Given the description of an element on the screen output the (x, y) to click on. 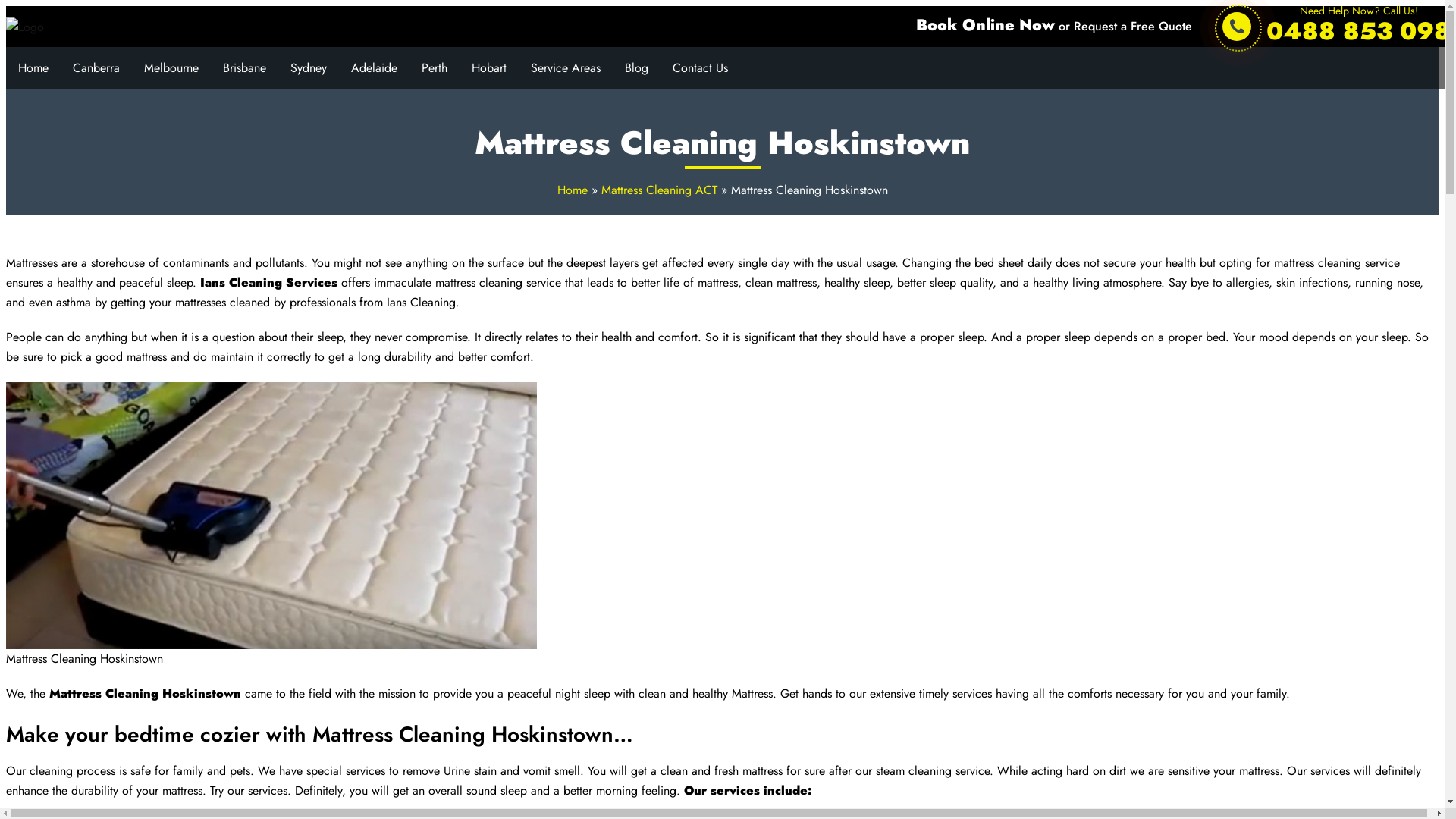
Perth Element type: text (434, 68)
Adelaide Element type: text (373, 68)
Home Element type: text (571, 189)
Sydney Element type: text (308, 68)
Brisbane Element type: text (244, 68)
Mattress Cleaning ACT Element type: text (658, 189)
Need Help Now? Call Us!
0488 853 098 Element type: text (1358, 26)
Book Online Nowor Request a Free Quote Element type: text (1054, 26)
Home Element type: text (32, 68)
Blog Element type: text (636, 68)
Melbourne Element type: text (171, 68)
Service Areas Element type: text (565, 68)
Contact Us Element type: text (700, 68)
Hobart Element type: text (488, 68)
Canberra Element type: text (96, 68)
